Given the description of an element on the screen output the (x, y) to click on. 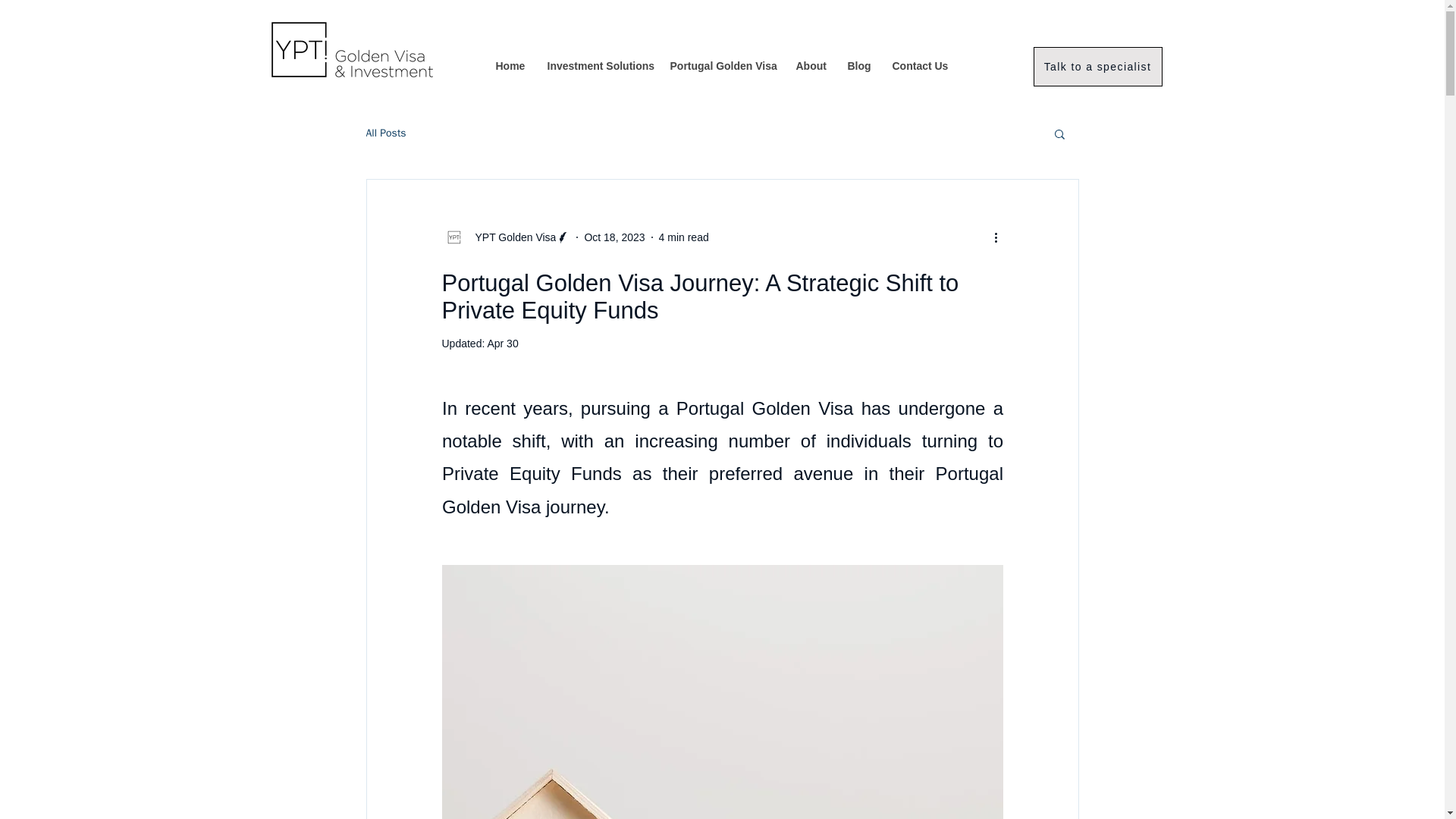
Blog (857, 66)
Investment Solutions (596, 66)
Contact Us (919, 66)
About (809, 66)
Apr 30 (502, 343)
YPT Golden Visa (510, 236)
All Posts (385, 133)
Talk to a specialist (1096, 66)
Portugal Golden Visa (721, 66)
Oct 18, 2023 (614, 236)
